Given the description of an element on the screen output the (x, y) to click on. 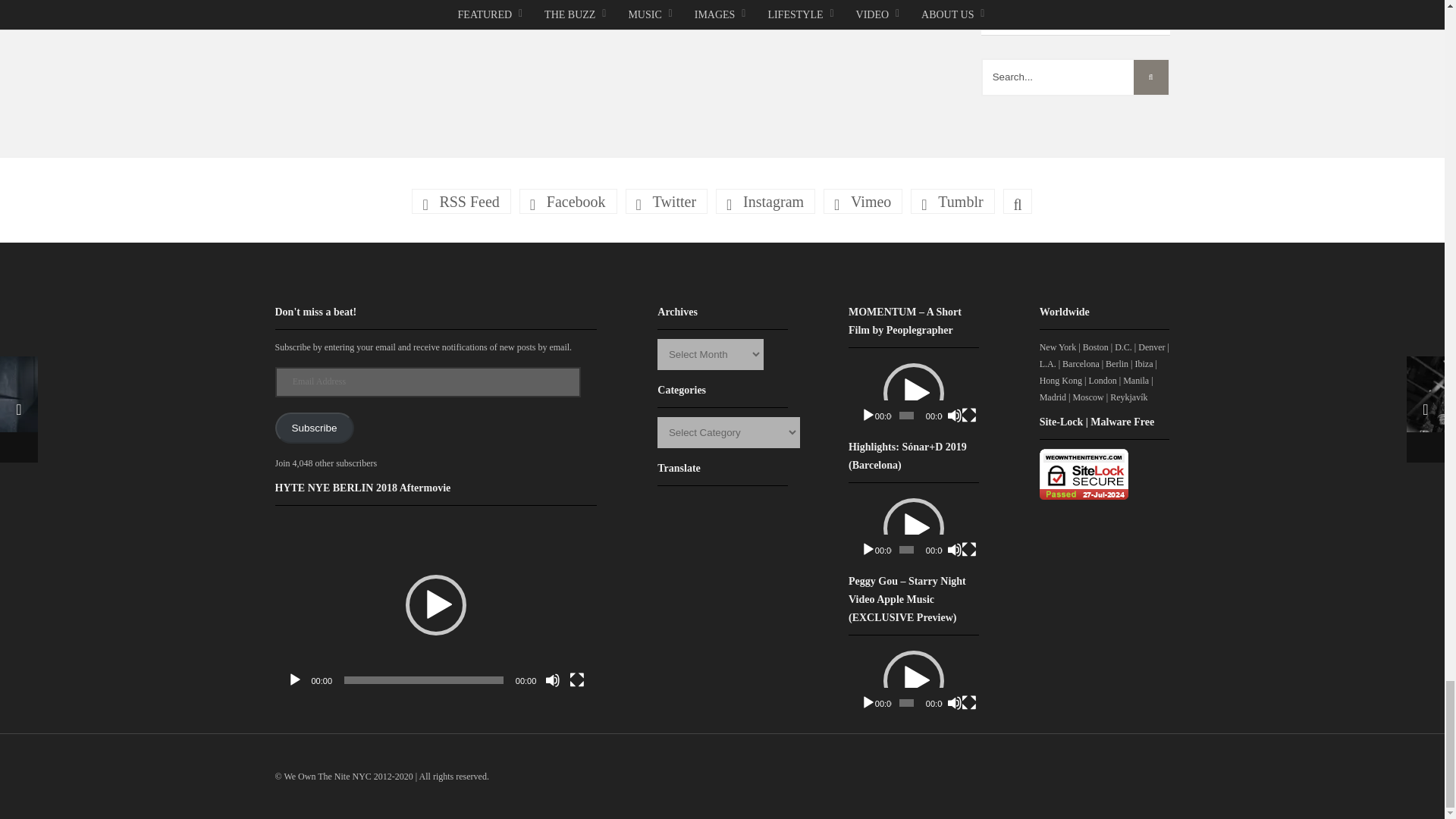
Search... (1075, 77)
